Given the description of an element on the screen output the (x, y) to click on. 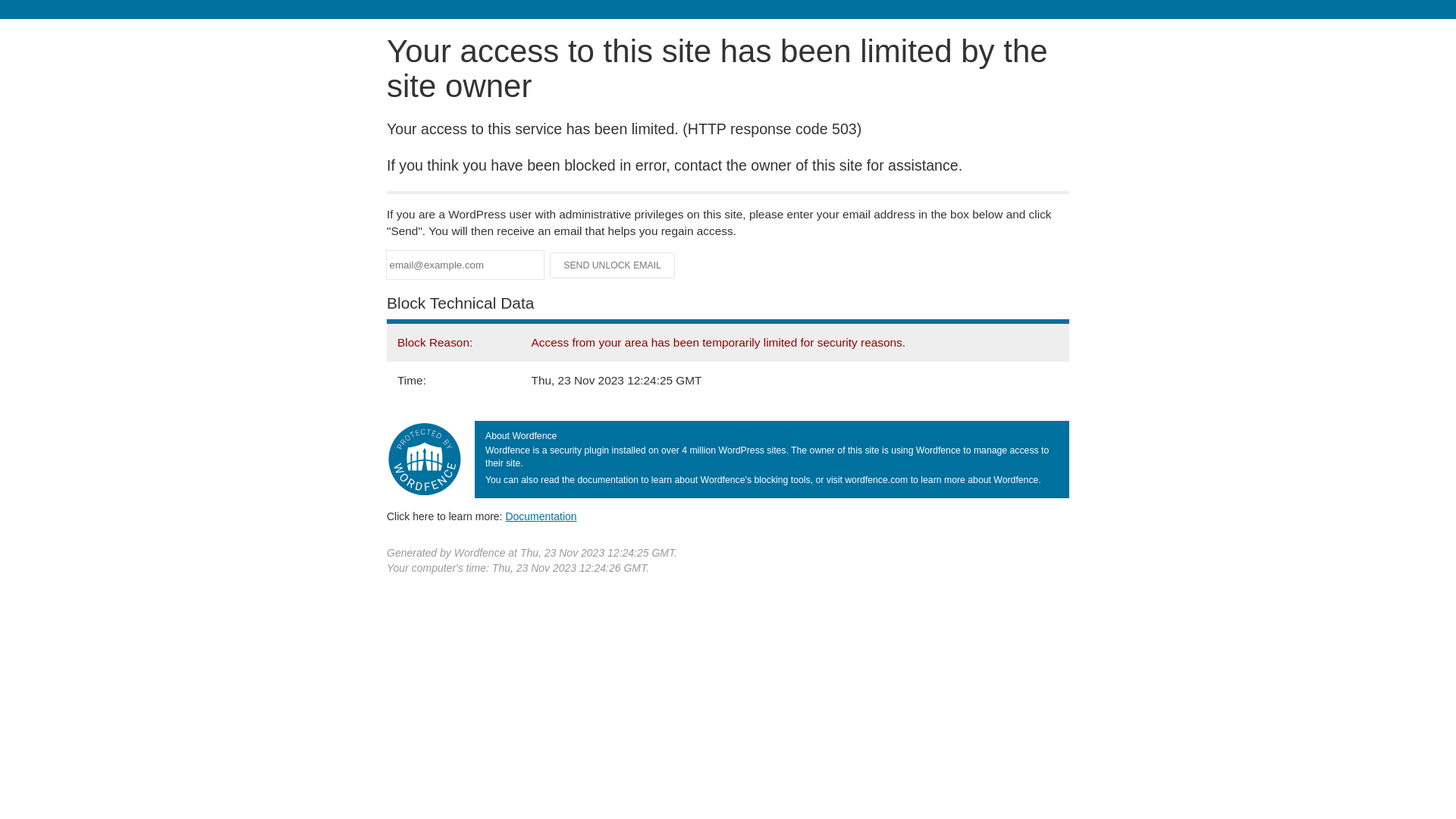
Send Unlock Email Element type: text (612, 265)
Documentation Element type: text (540, 516)
